Given the description of an element on the screen output the (x, y) to click on. 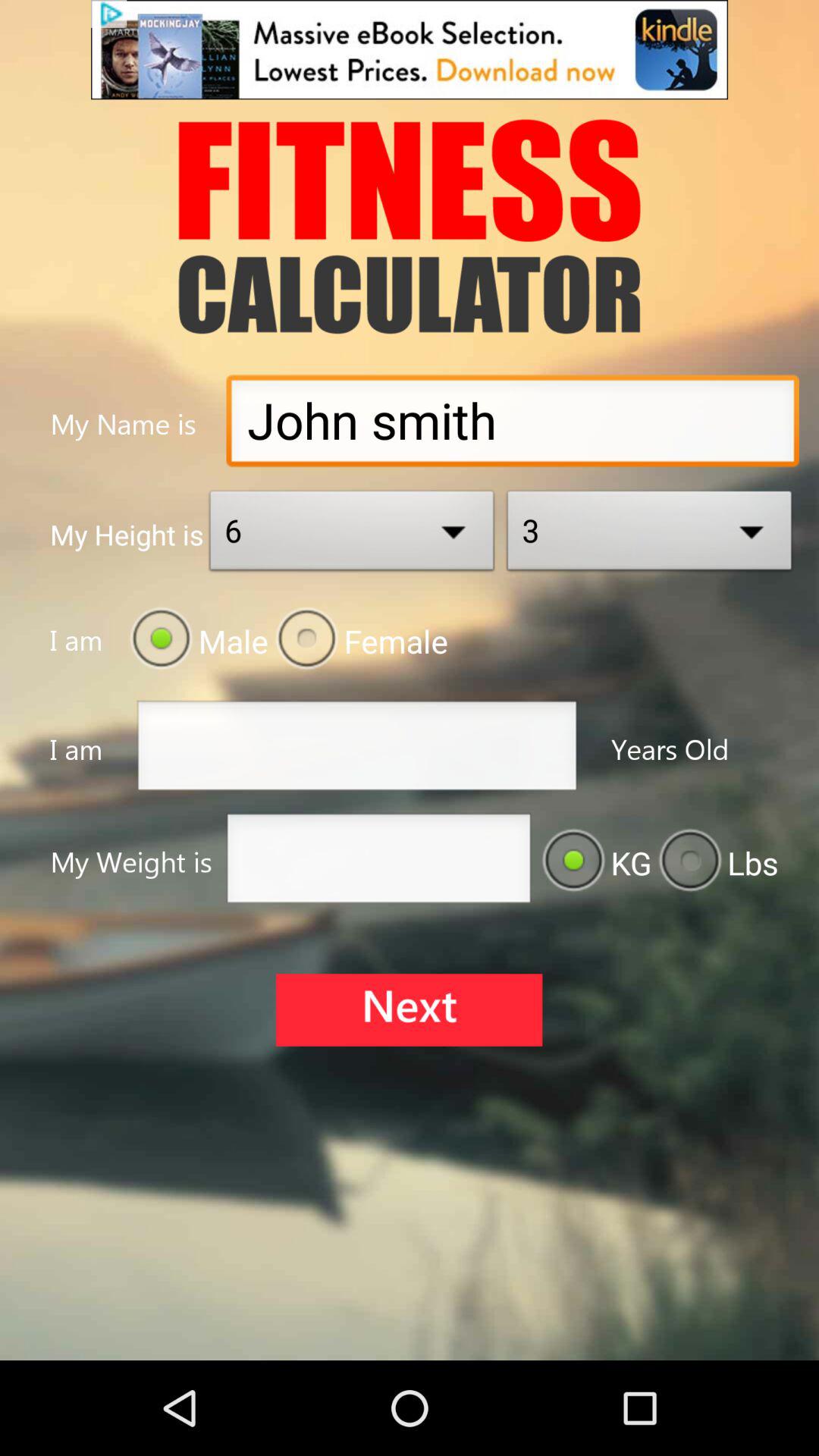
next (408, 1009)
